Given the description of an element on the screen output the (x, y) to click on. 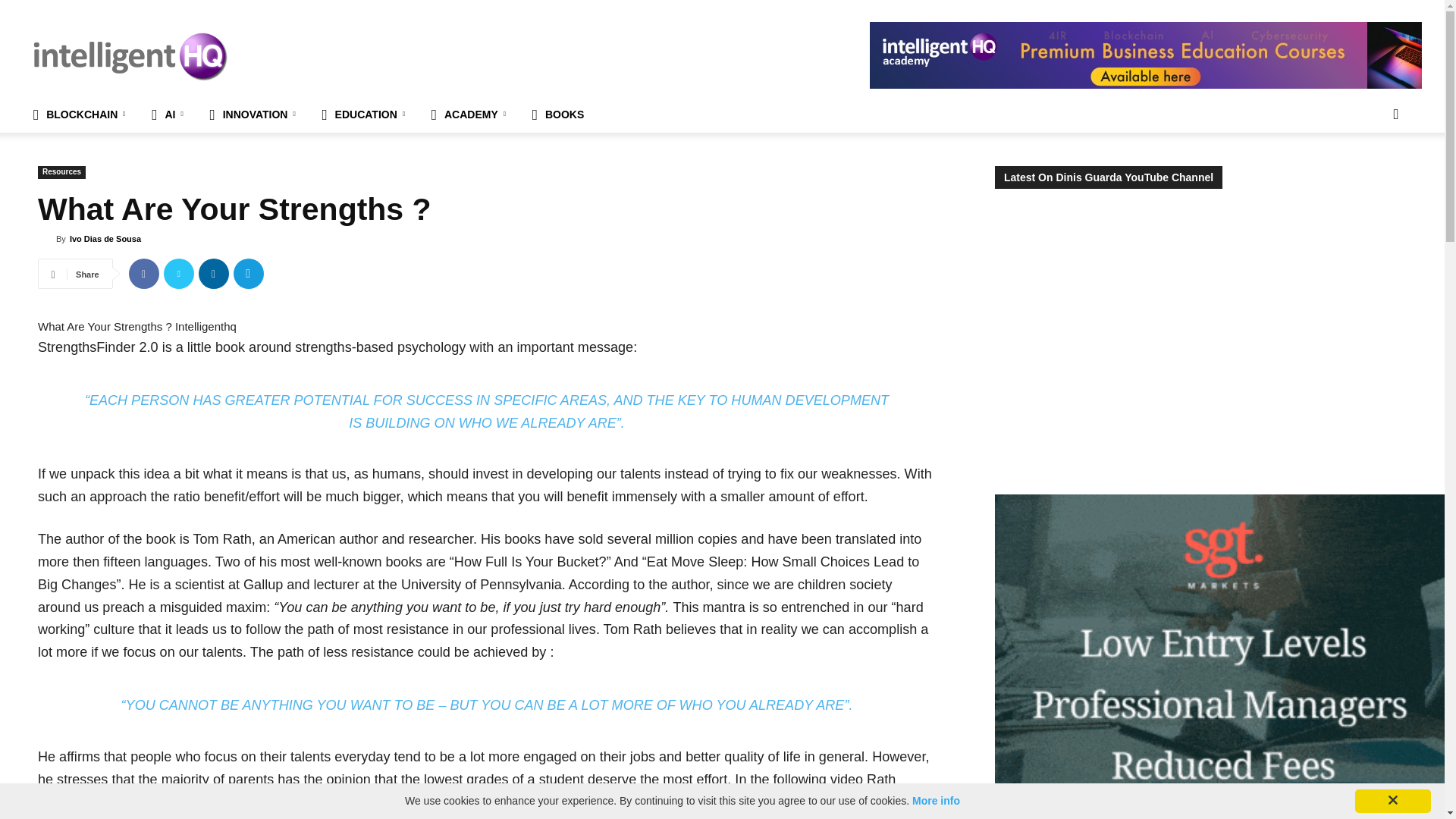
BLOCKCHAIN (82, 114)
